Given the description of an element on the screen output the (x, y) to click on. 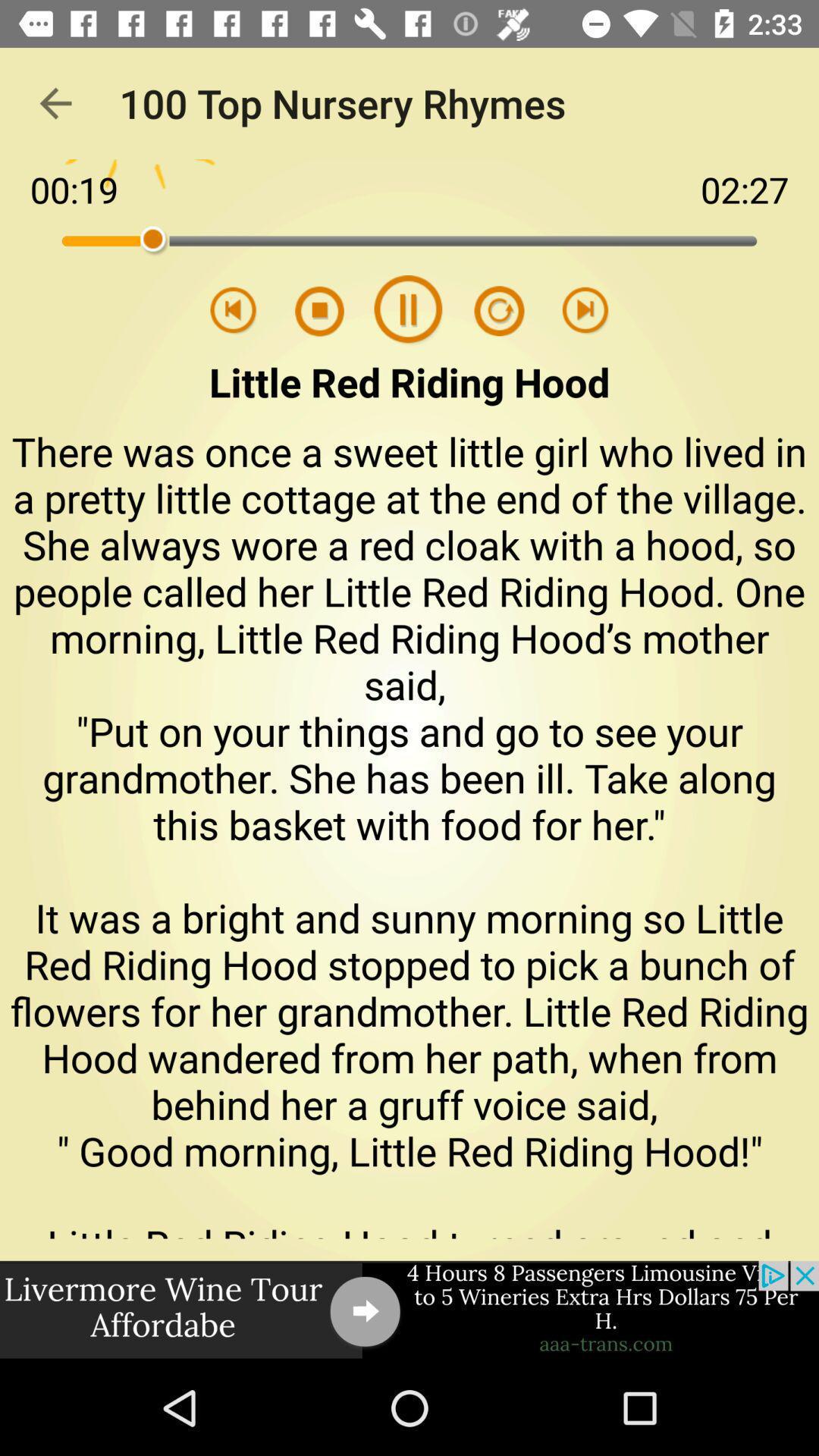
select the symbol (489, 310)
